Given the description of an element on the screen output the (x, y) to click on. 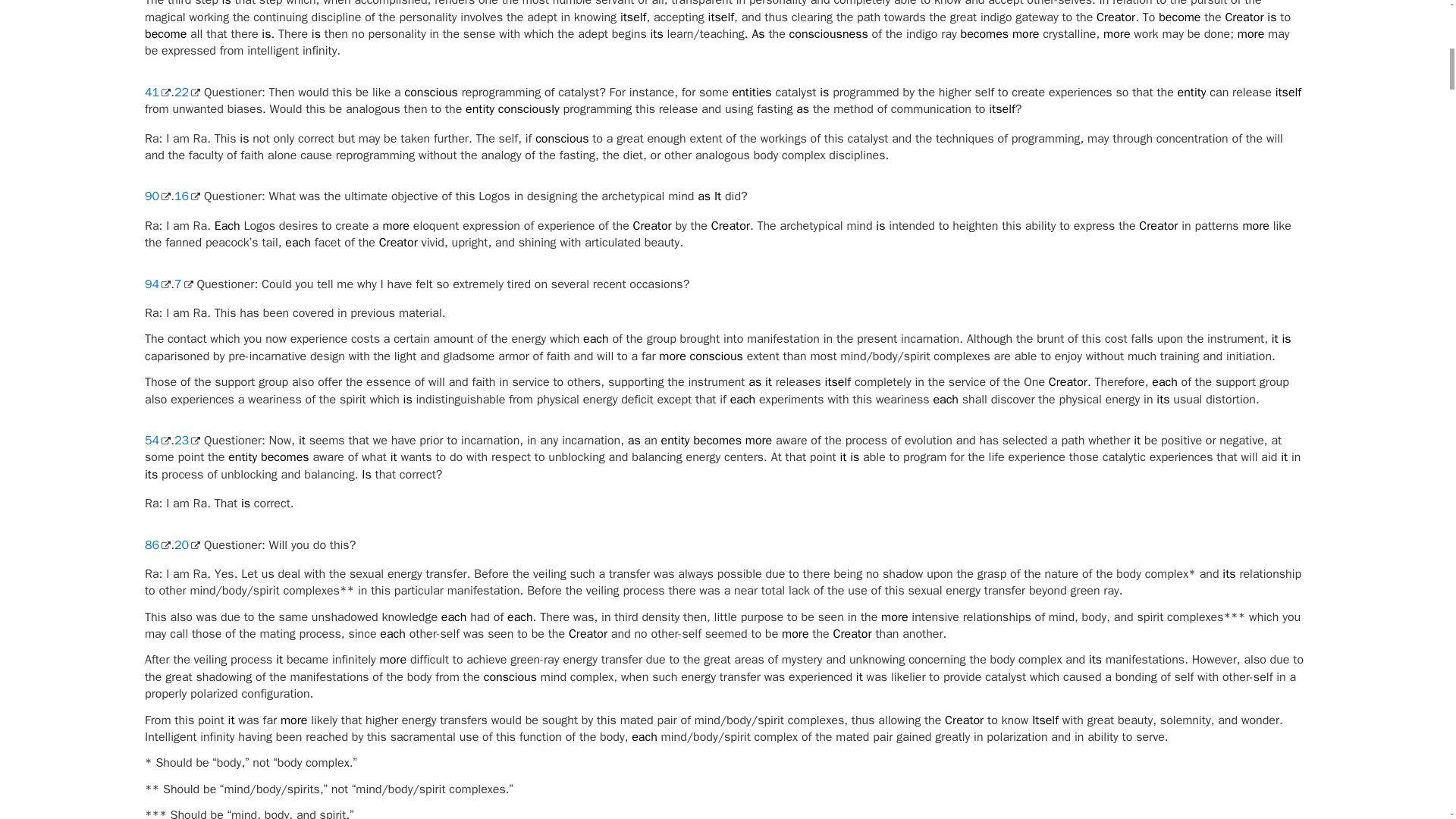
16 (187, 196)
86 (157, 544)
54 (157, 440)
22 (187, 92)
94 (157, 283)
90 (157, 196)
41 (157, 92)
7 (183, 283)
23 (187, 440)
